Given the description of an element on the screen output the (x, y) to click on. 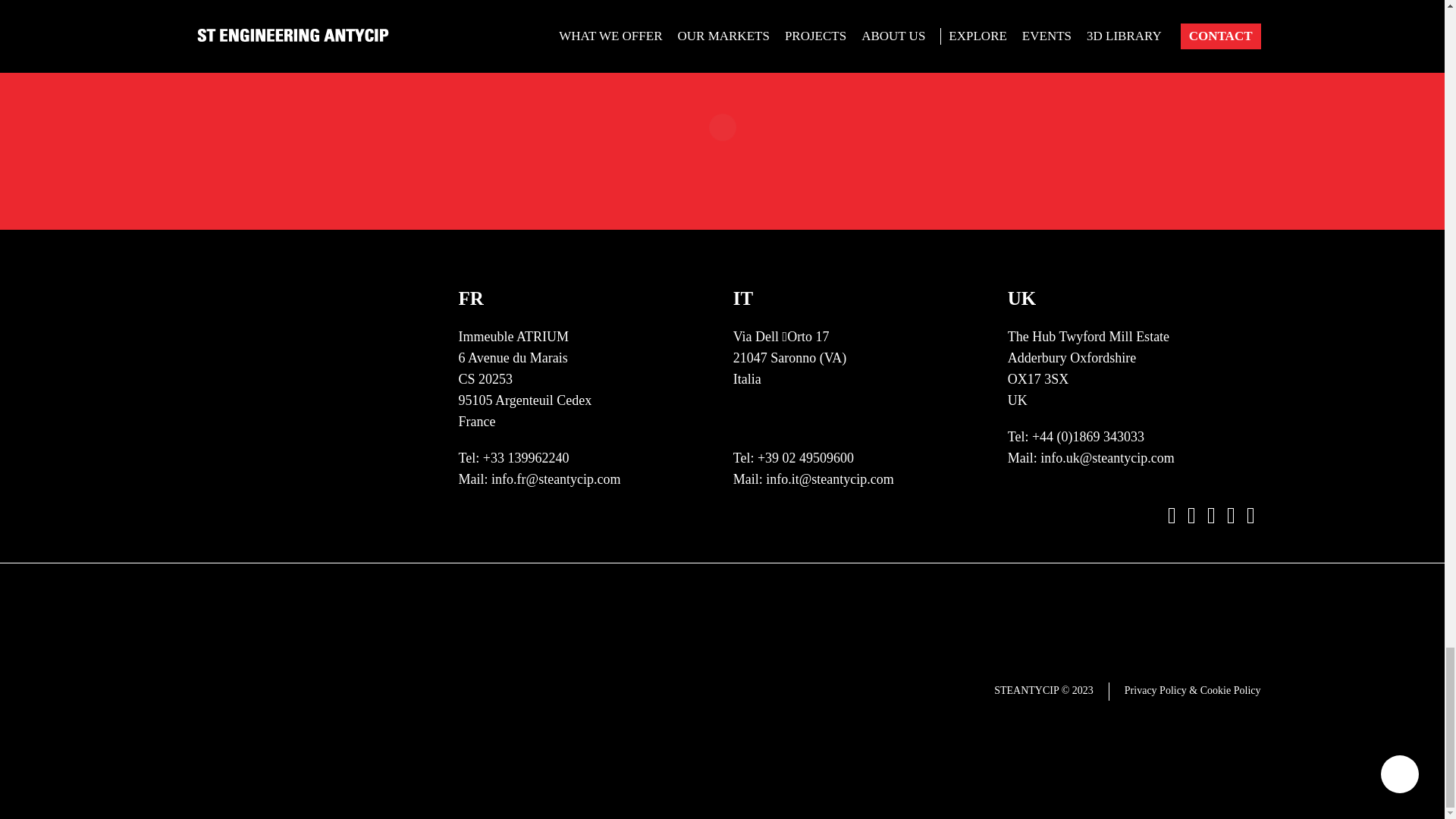
logo-middlevr-web-white - Copy (648, 366)
Digital-Projection-Logo-white no background (859, 745)
ScalableDisplayTechnologies Logo - Copy (859, 594)
logo techviz white no background (859, 215)
